Given the description of an element on the screen output the (x, y) to click on. 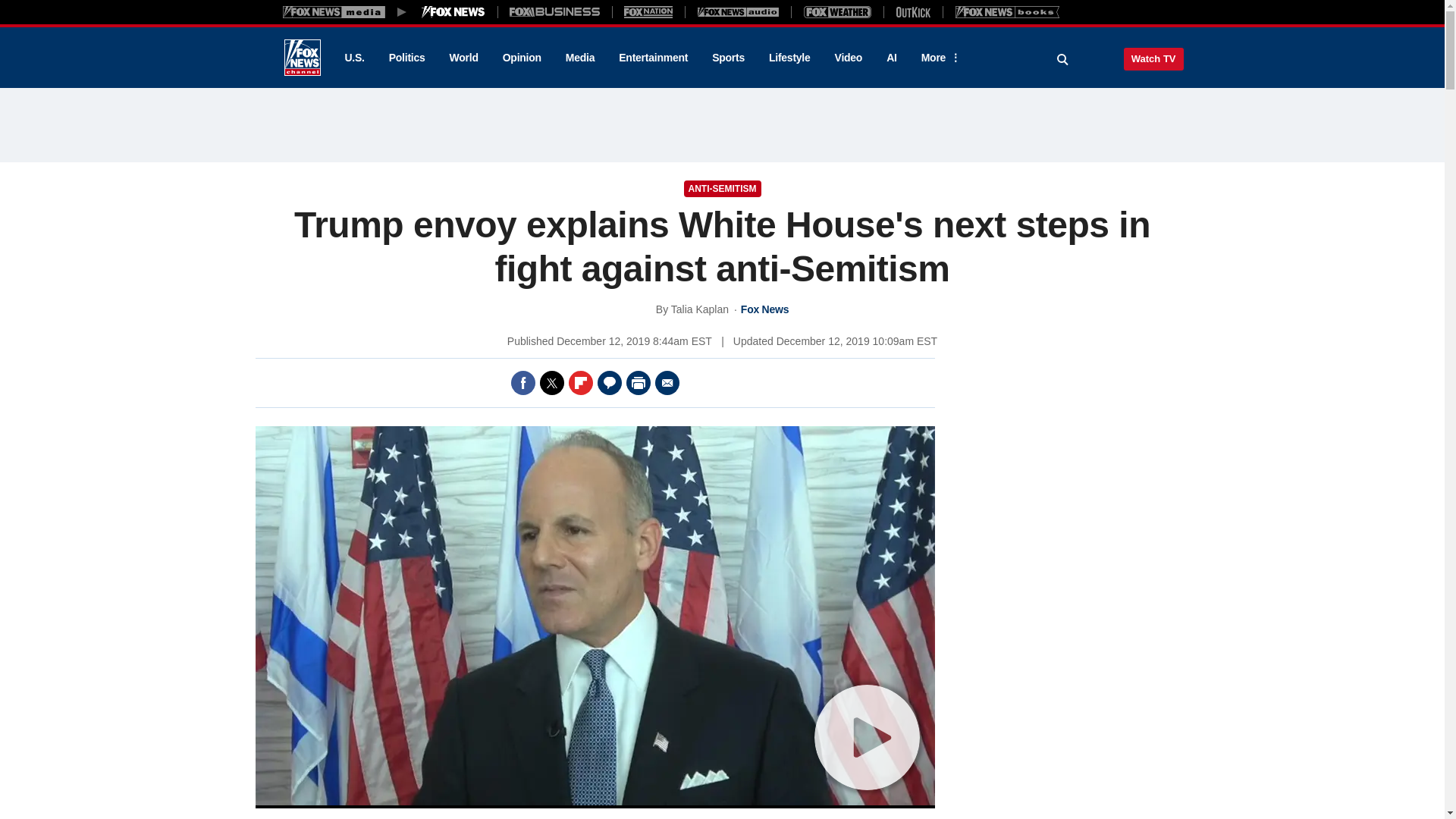
Opinion (521, 57)
Fox Weather (836, 11)
Lifestyle (789, 57)
U.S. (353, 57)
Fox News (301, 57)
Entertainment (653, 57)
Fox News Media (453, 11)
Fox Nation (648, 11)
Fox News Audio (737, 11)
Politics (407, 57)
